Given the description of an element on the screen output the (x, y) to click on. 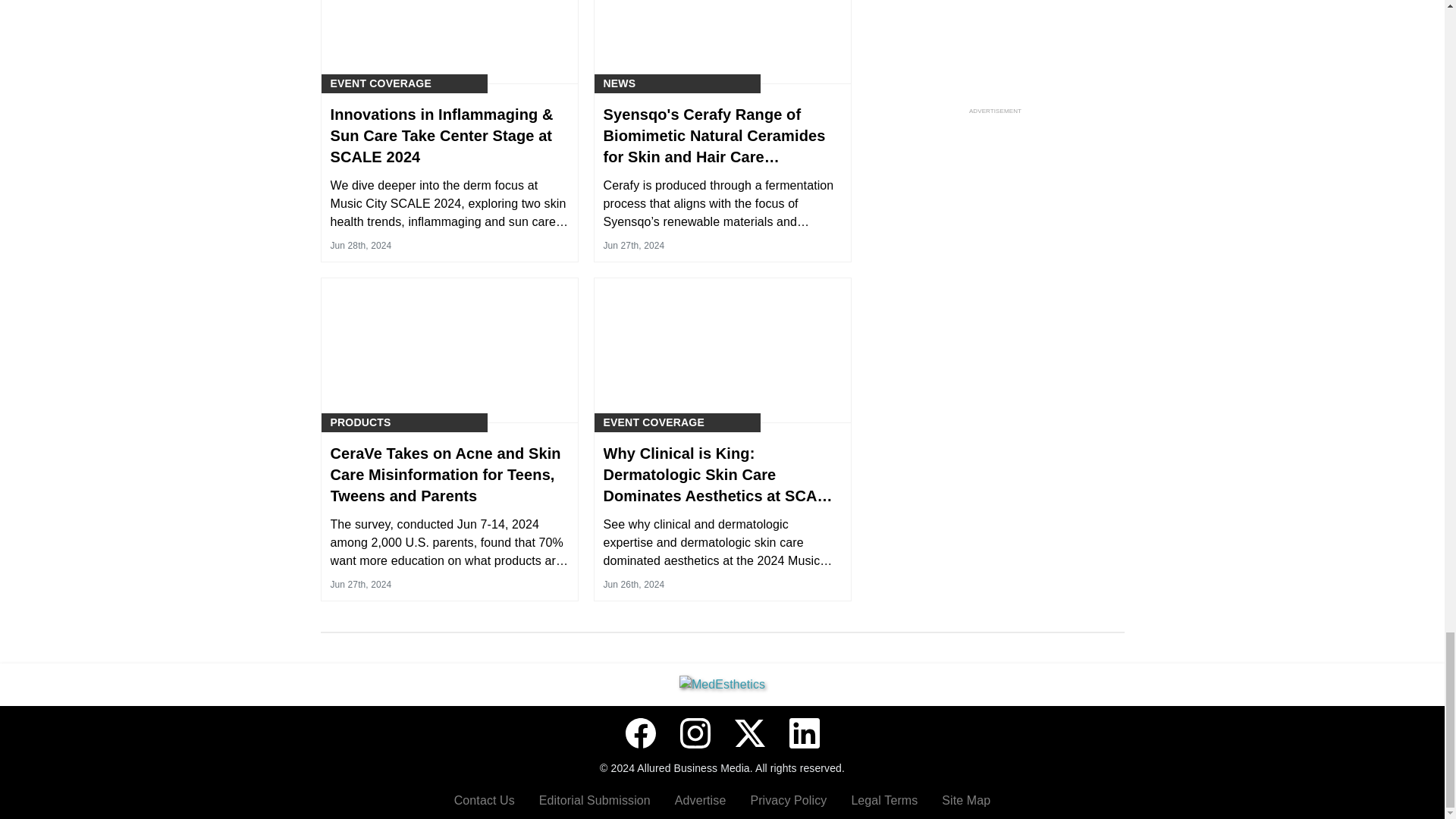
Twitter X icon (748, 733)
LinkedIn icon (803, 733)
Instagram icon (694, 733)
Facebook icon (639, 733)
News (620, 83)
